Given the description of an element on the screen output the (x, y) to click on. 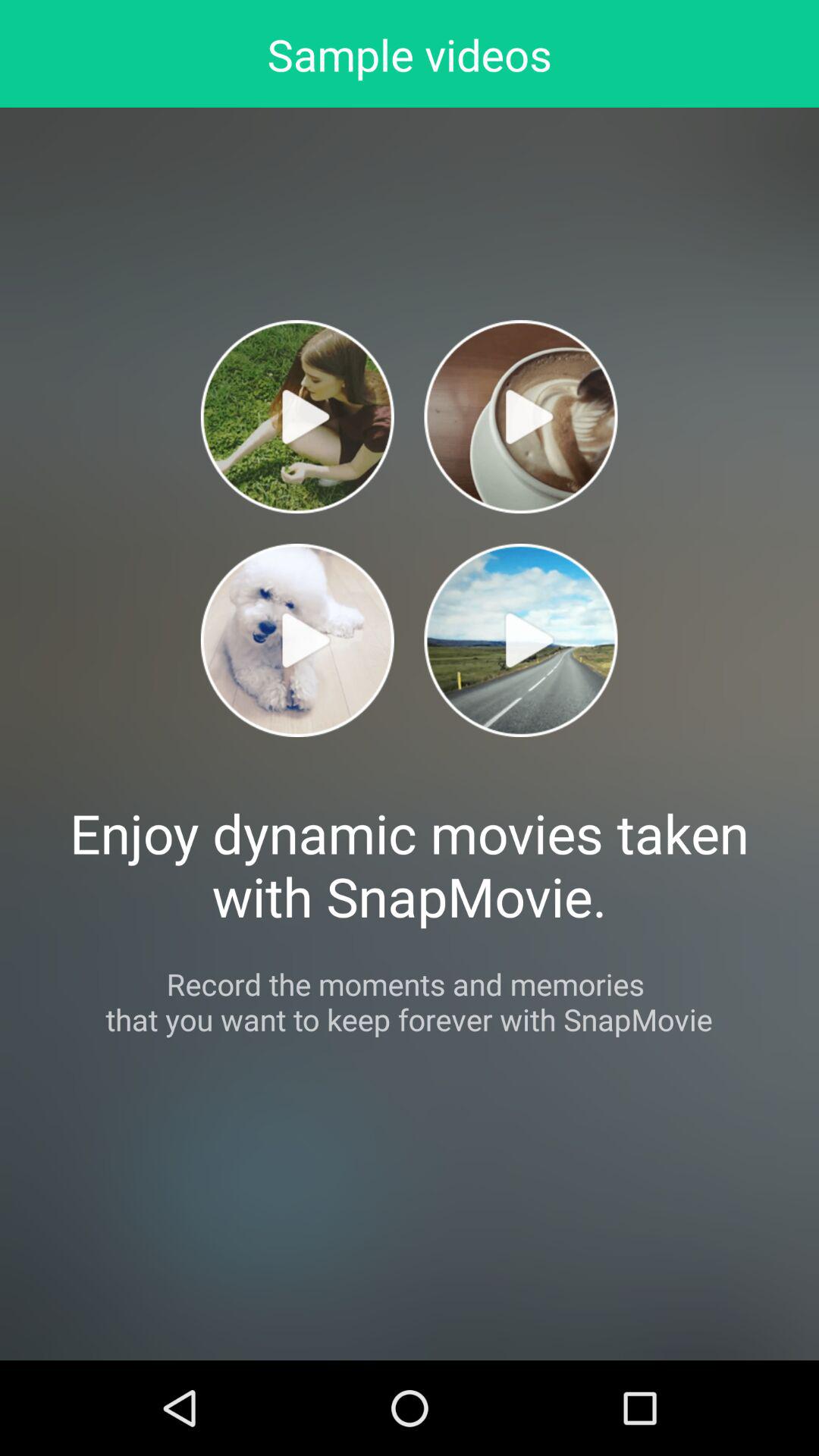
play sample movie (520, 640)
